Given the description of an element on the screen output the (x, y) to click on. 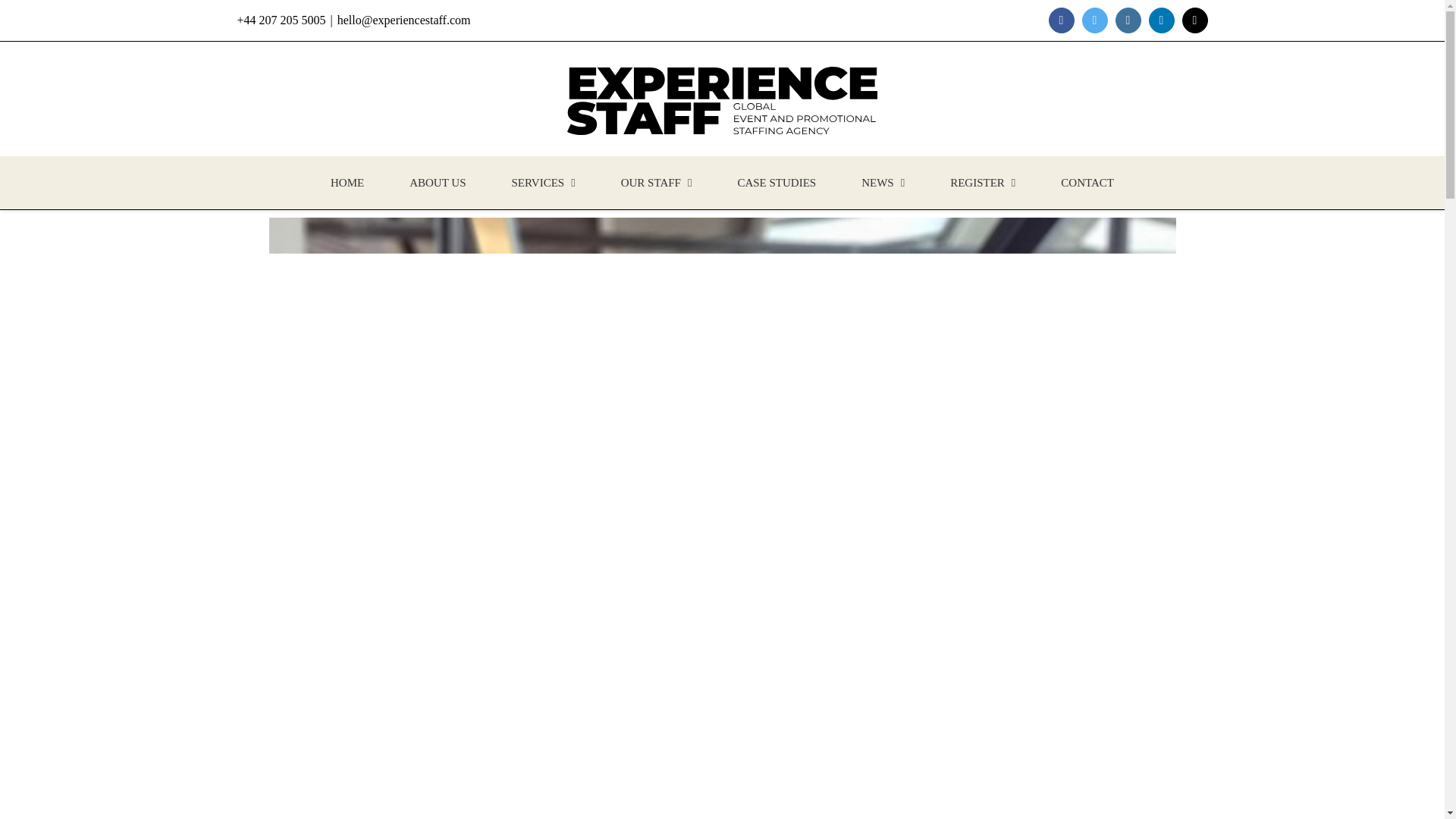
ABOUT US (437, 182)
Twitter (1093, 20)
Twitter (1093, 20)
Tiktok (1193, 20)
Instagram (1127, 20)
Tiktok (1193, 20)
Instagram (1127, 20)
Facebook (1061, 20)
LinkedIn (1160, 20)
Facebook (1061, 20)
